Given the description of an element on the screen output the (x, y) to click on. 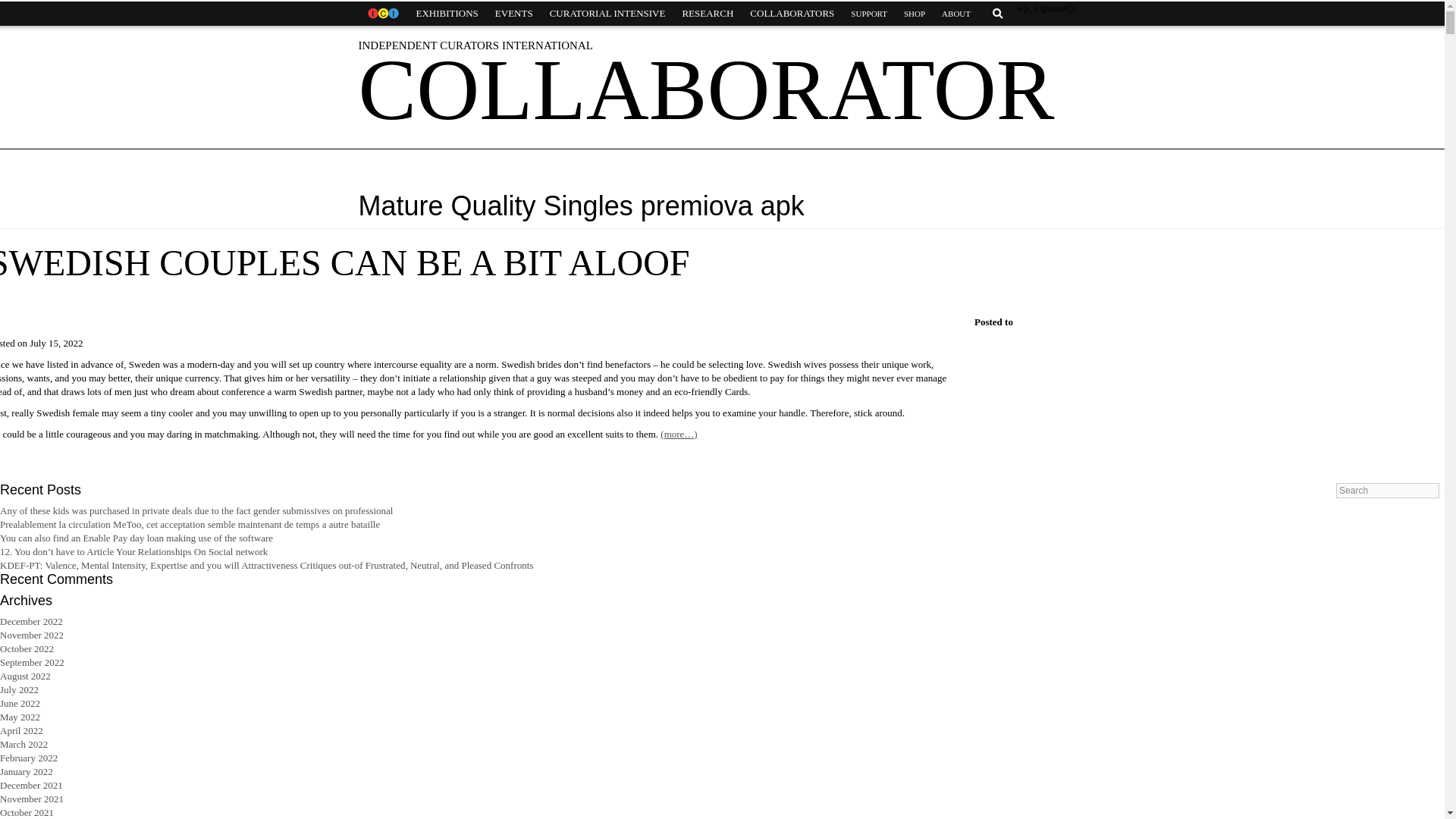
COLLABORATORS (792, 13)
EXHIBITIONS (446, 13)
HOME (382, 13)
RESEARCH (706, 13)
EVENTS (513, 13)
CURATORIAL INTENSIVE (607, 13)
